Given the description of an element on the screen output the (x, y) to click on. 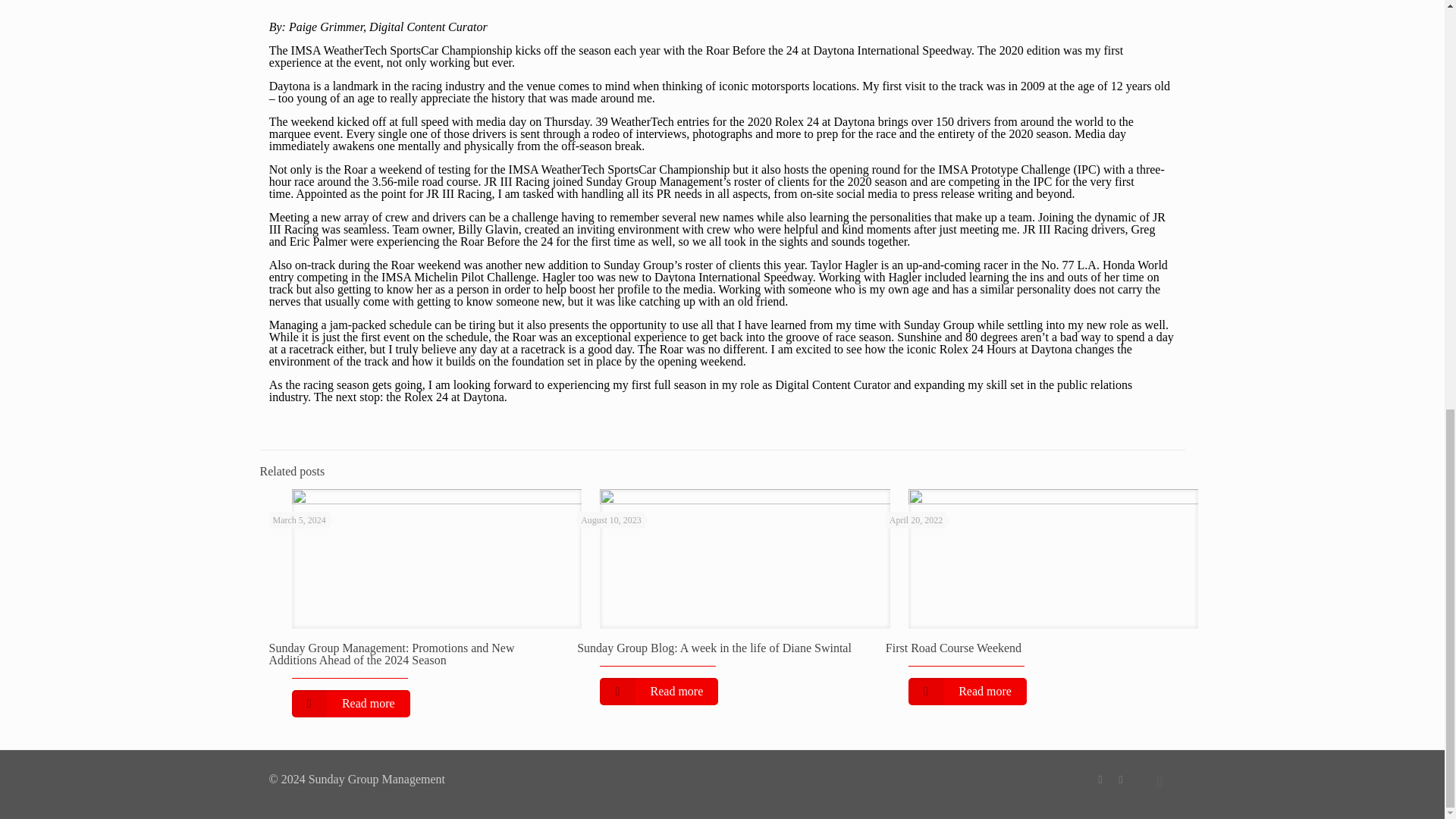
Read more (967, 691)
Read more (658, 691)
Twitter (1121, 779)
Facebook (1100, 779)
Sunday Group Blog: A week in the life of Diane Swintal (713, 647)
First Road Course Weekend (953, 647)
Read more (350, 703)
